Given the description of an element on the screen output the (x, y) to click on. 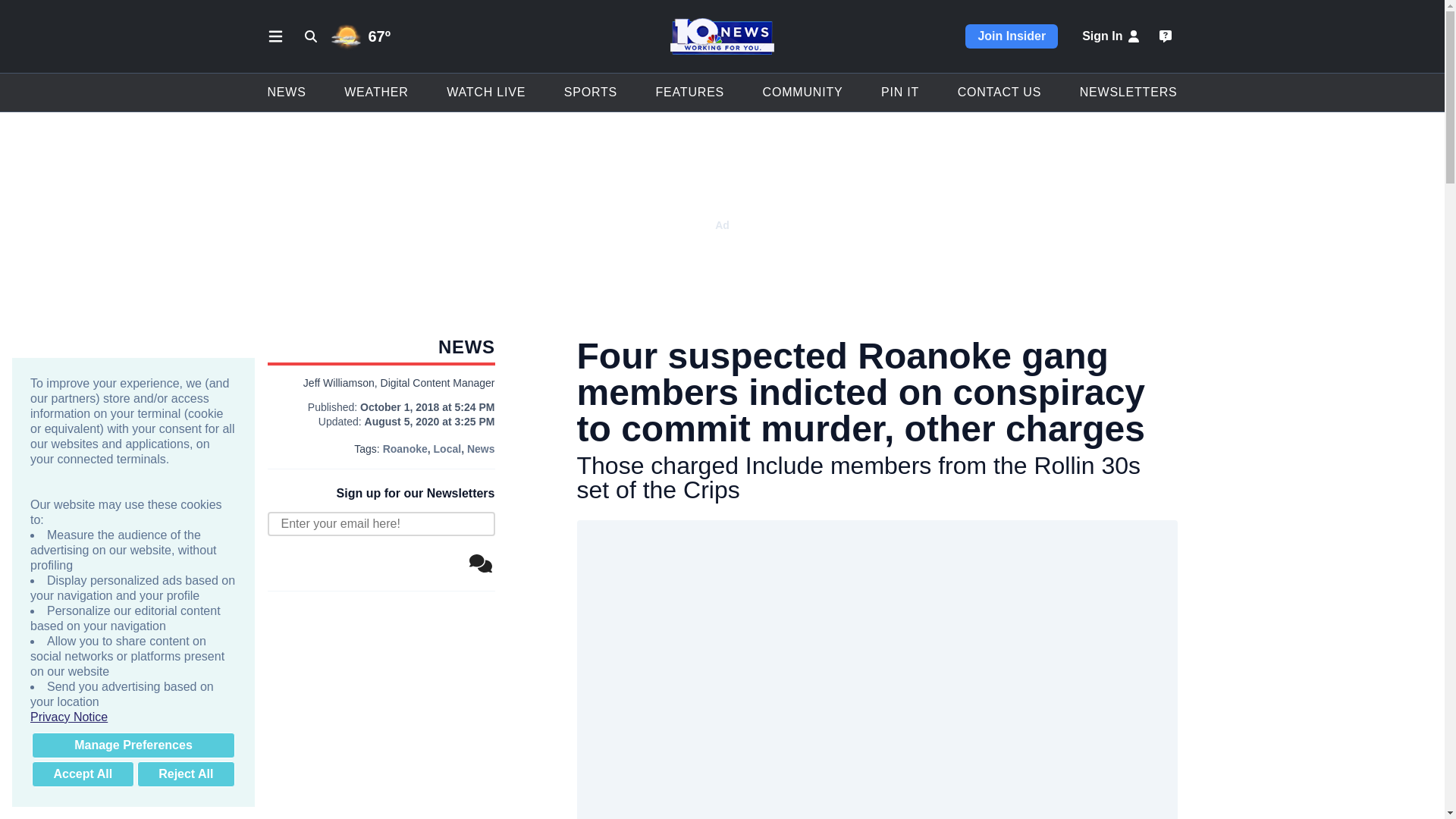
Reject All (185, 774)
Join Insider (1011, 36)
Privacy Notice (132, 717)
Sign In (1111, 36)
Accept All (82, 774)
Manage Preferences (133, 745)
